Given the description of an element on the screen output the (x, y) to click on. 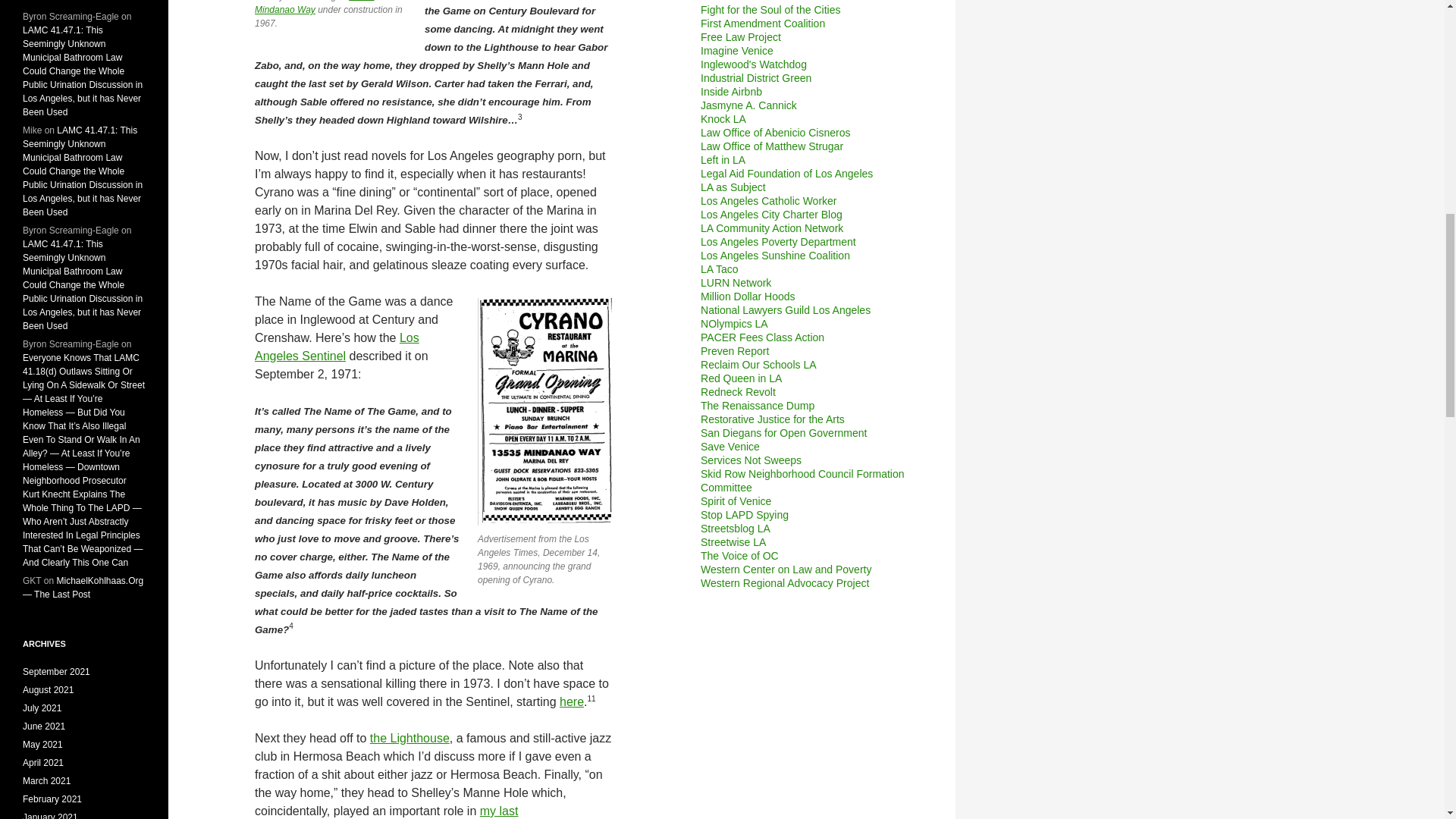
my last recommendation (386, 811)
here (571, 701)
13578 Mindanao Way (314, 7)
Los Angeles Sentinel (336, 346)
the Lighthouse (409, 738)
